Given the description of an element on the screen output the (x, y) to click on. 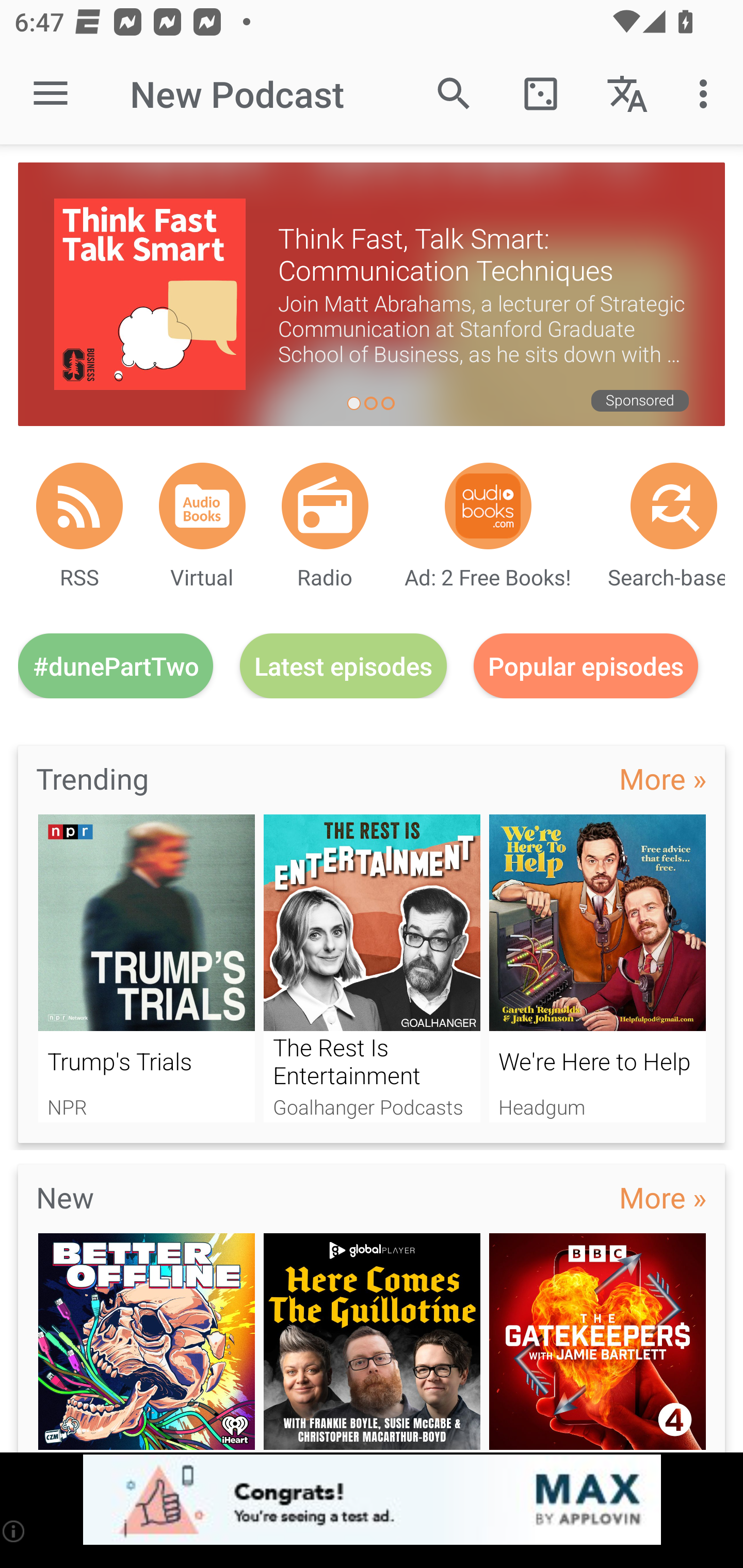
Open navigation sidebar (50, 93)
Search (453, 93)
Random pick (540, 93)
Podcast languages (626, 93)
More options (706, 93)
RSS (79, 505)
Virtual (202, 505)
Radio (324, 505)
Search-based (673, 505)
#dunePartTwo (115, 665)
Latest episodes (342, 665)
Popular episodes (586, 665)
More » (662, 778)
Trump's Trials NPR (145, 967)
The Rest Is Entertainment Goalhanger Podcasts (371, 967)
We're Here to Help Headgum (596, 967)
More » (662, 1196)
Better Offline (145, 1342)
Here Comes The Guillotine (371, 1342)
The Gatekeepers (596, 1342)
app-monetization (371, 1500)
(i) (14, 1531)
